Given the description of an element on the screen output the (x, y) to click on. 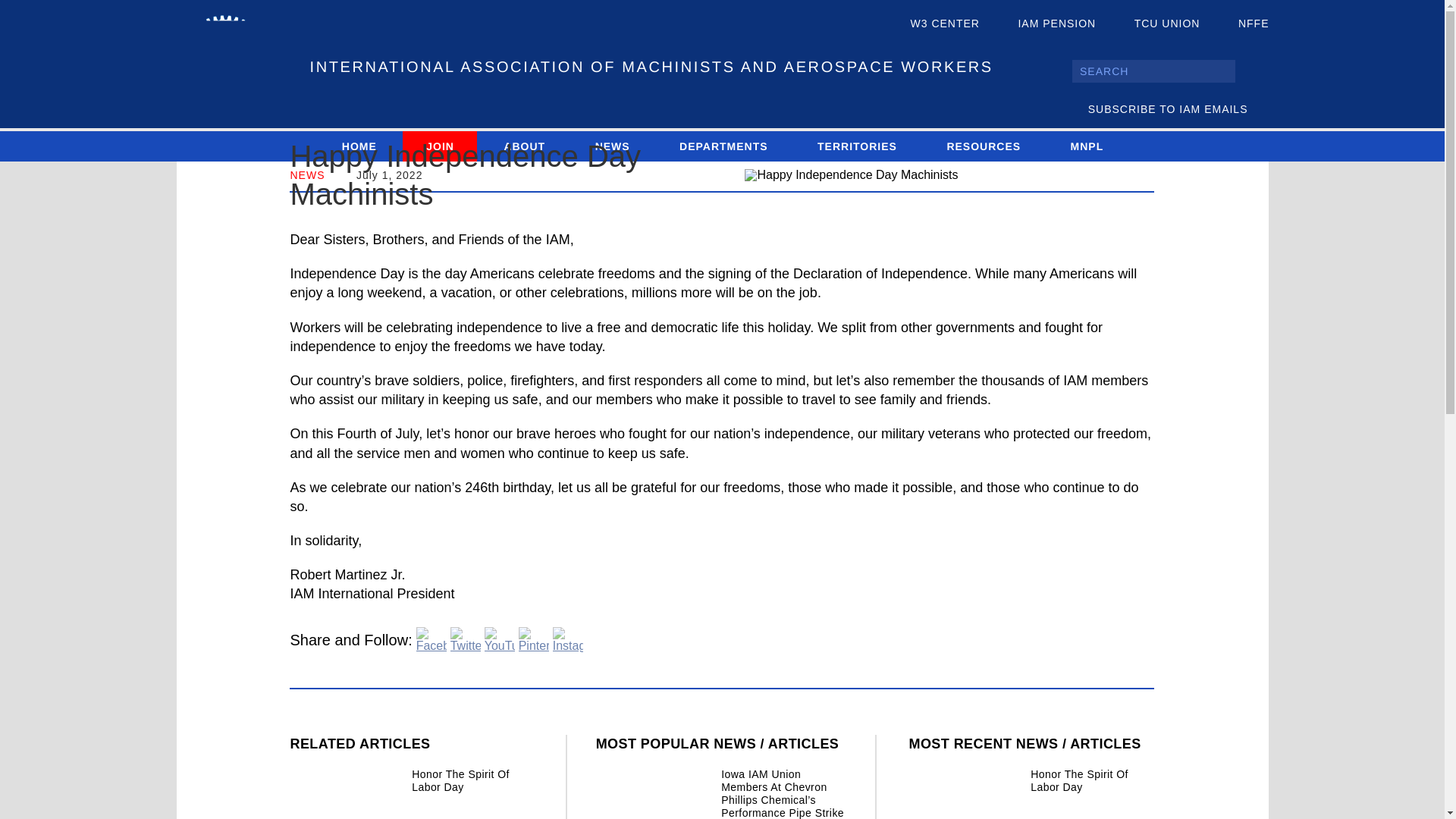
TCU UNION (1153, 24)
RESOURCES (983, 146)
NFFE (1240, 24)
ABOUT (523, 146)
YouTube (499, 639)
W3 CENTER (932, 24)
JOIN (440, 146)
HOME (358, 146)
SUBSCRIBE TO IAM EMAILS (1178, 108)
TERRITORIES (856, 146)
